Given the description of an element on the screen output the (x, y) to click on. 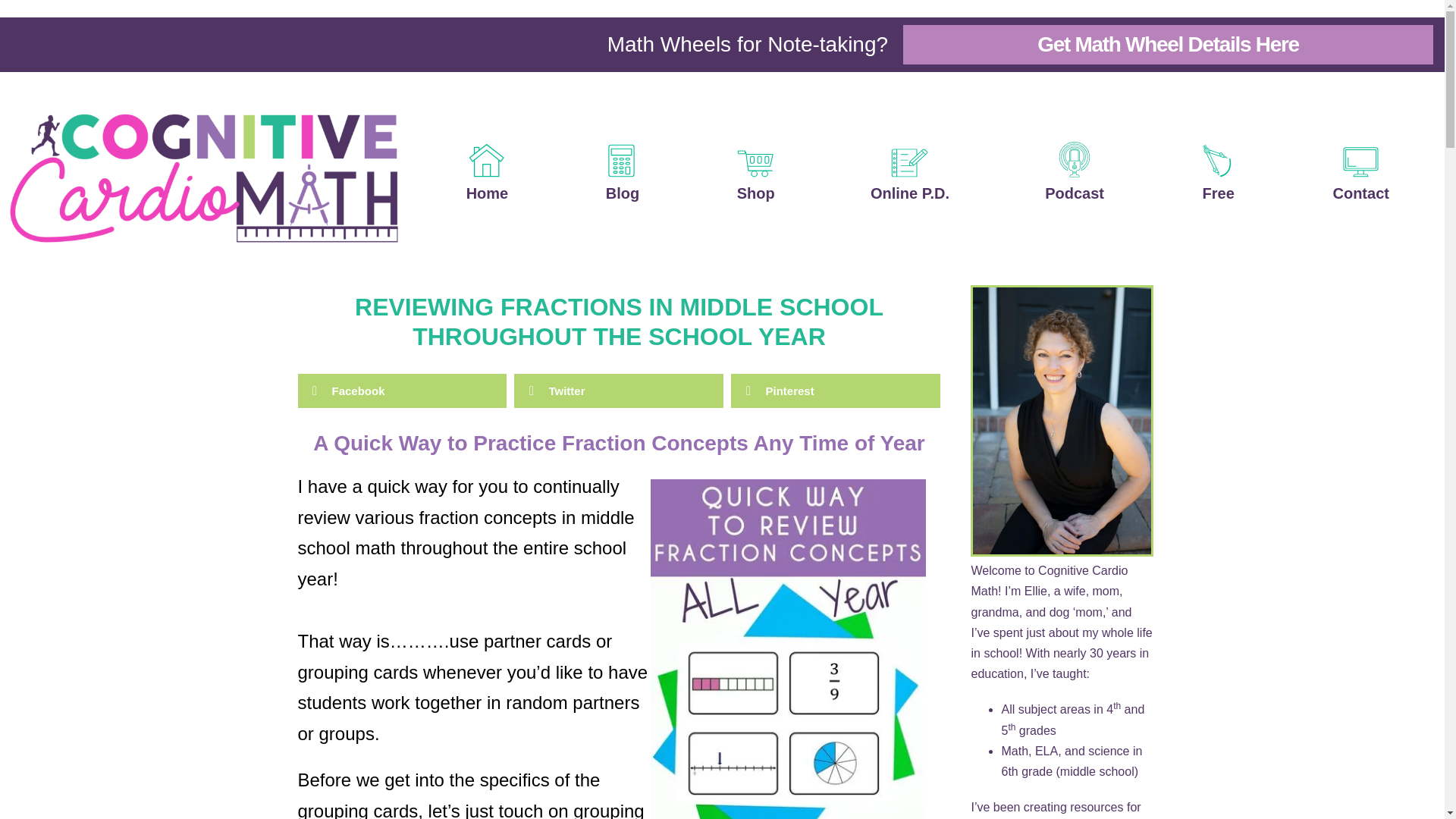
Get Math Wheel Details Here (1167, 44)
Shop (755, 171)
Blog (622, 171)
Home (487, 171)
